Given the description of an element on the screen output the (x, y) to click on. 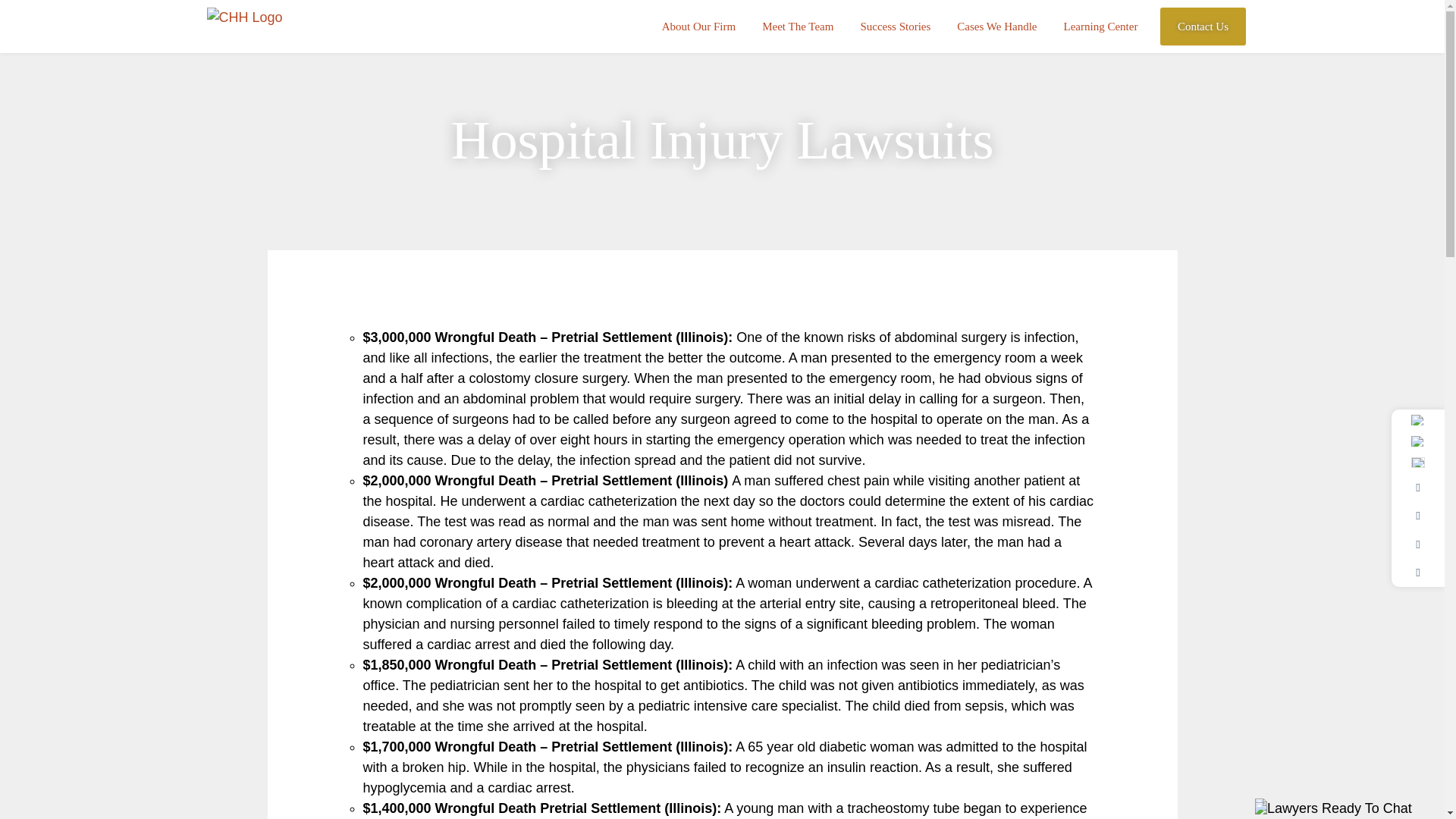
Contact Us (1202, 26)
Success Stories (895, 26)
Cases We Handle (996, 26)
Meet The Team (797, 26)
About Our Firm (699, 26)
Learning Center (1101, 26)
